Given the description of an element on the screen output the (x, y) to click on. 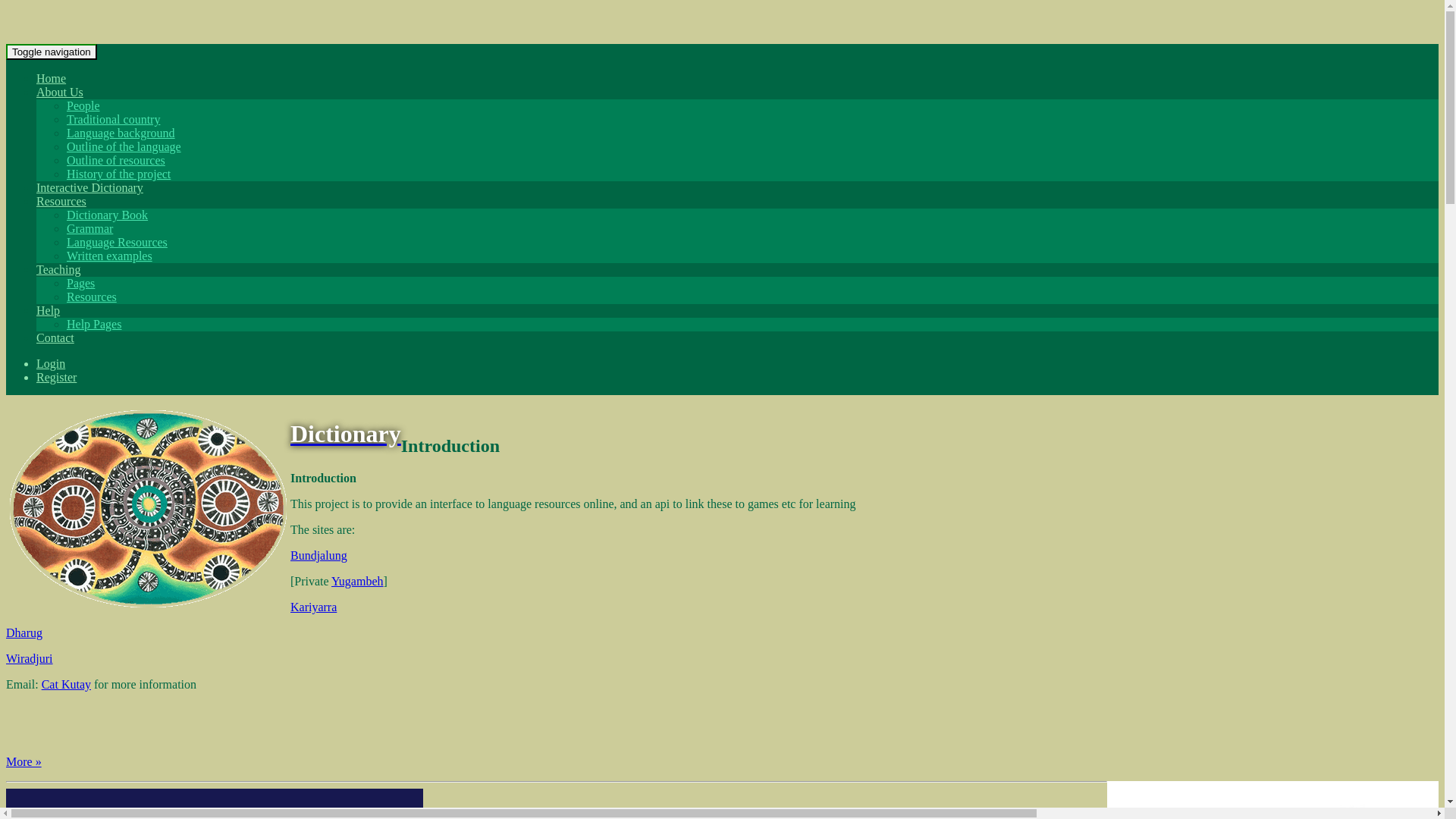
Outline of the language Element type: text (123, 146)
Help Pages Element type: text (93, 323)
Language background Element type: text (120, 132)
Pages Element type: text (80, 282)
Wiradjuri Element type: text (29, 658)
Dictionary Book Element type: text (106, 214)
History of the project Element type: text (118, 173)
Dharug Element type: text (24, 632)
Bundjalung Element type: text (318, 555)
Written examples Element type: text (109, 255)
Home Element type: text (50, 78)
People Element type: text (83, 105)
Grammar Element type: text (89, 228)
Yugambeh Element type: text (356, 580)
Outline of resources Element type: text (115, 159)
Contact Element type: text (55, 337)
Cat Kutay Element type: text (66, 683)
About Us Element type: text (59, 91)
Help Element type: text (47, 310)
Traditional country Element type: text (113, 118)
Language Resources Element type: text (116, 241)
Resources Element type: text (91, 296)
Teaching Element type: text (58, 269)
Login Element type: text (50, 363)
Register Element type: text (56, 376)
Interactive Dictionary Element type: text (89, 187)
Resources Element type: text (61, 200)
Kariyarra Element type: text (313, 606)
Dictionary Element type: text (345, 434)
Toggle navigation Element type: text (51, 51)
